Given the description of an element on the screen output the (x, y) to click on. 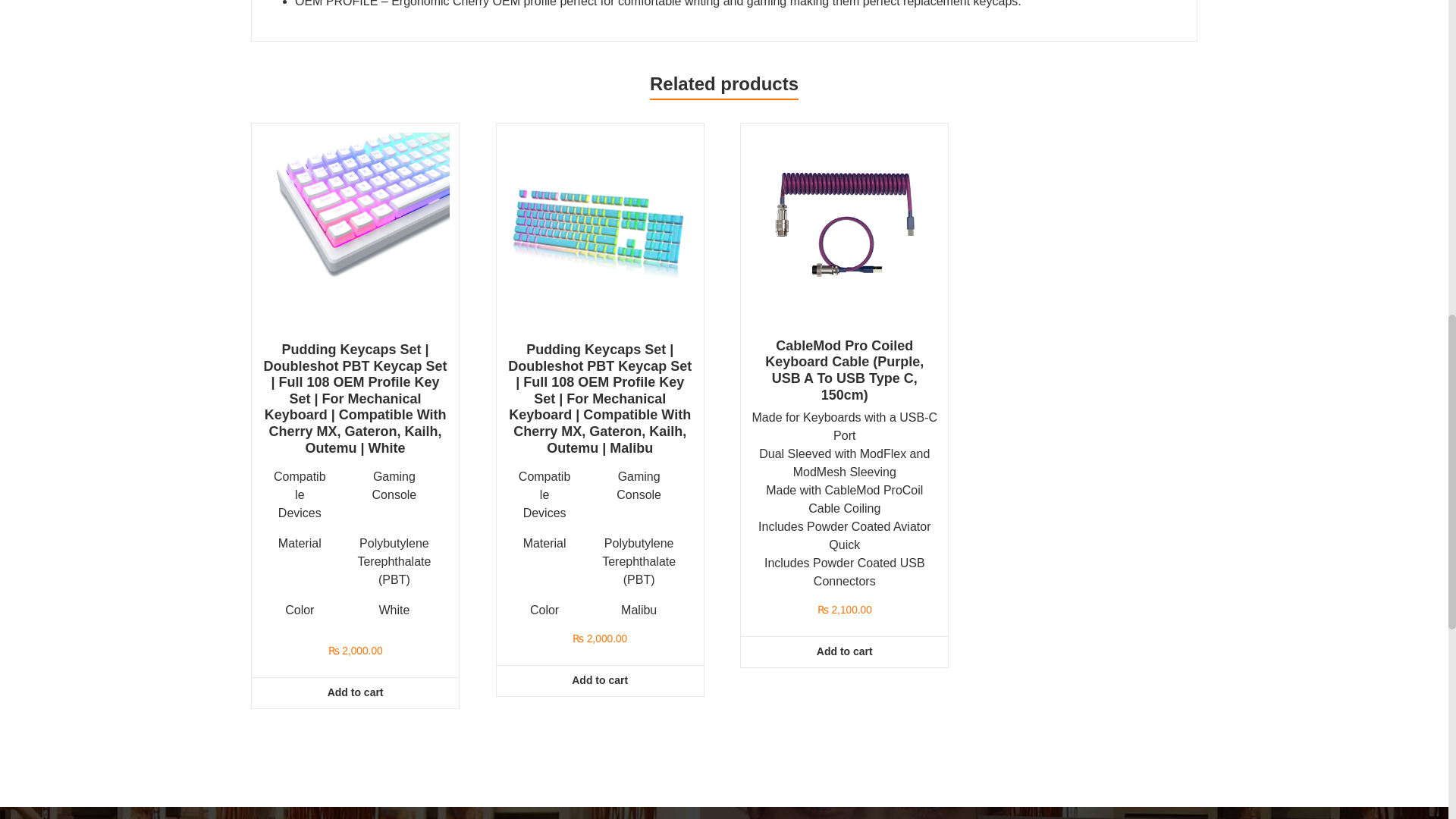
Add to cart (354, 693)
